Given the description of an element on the screen output the (x, y) to click on. 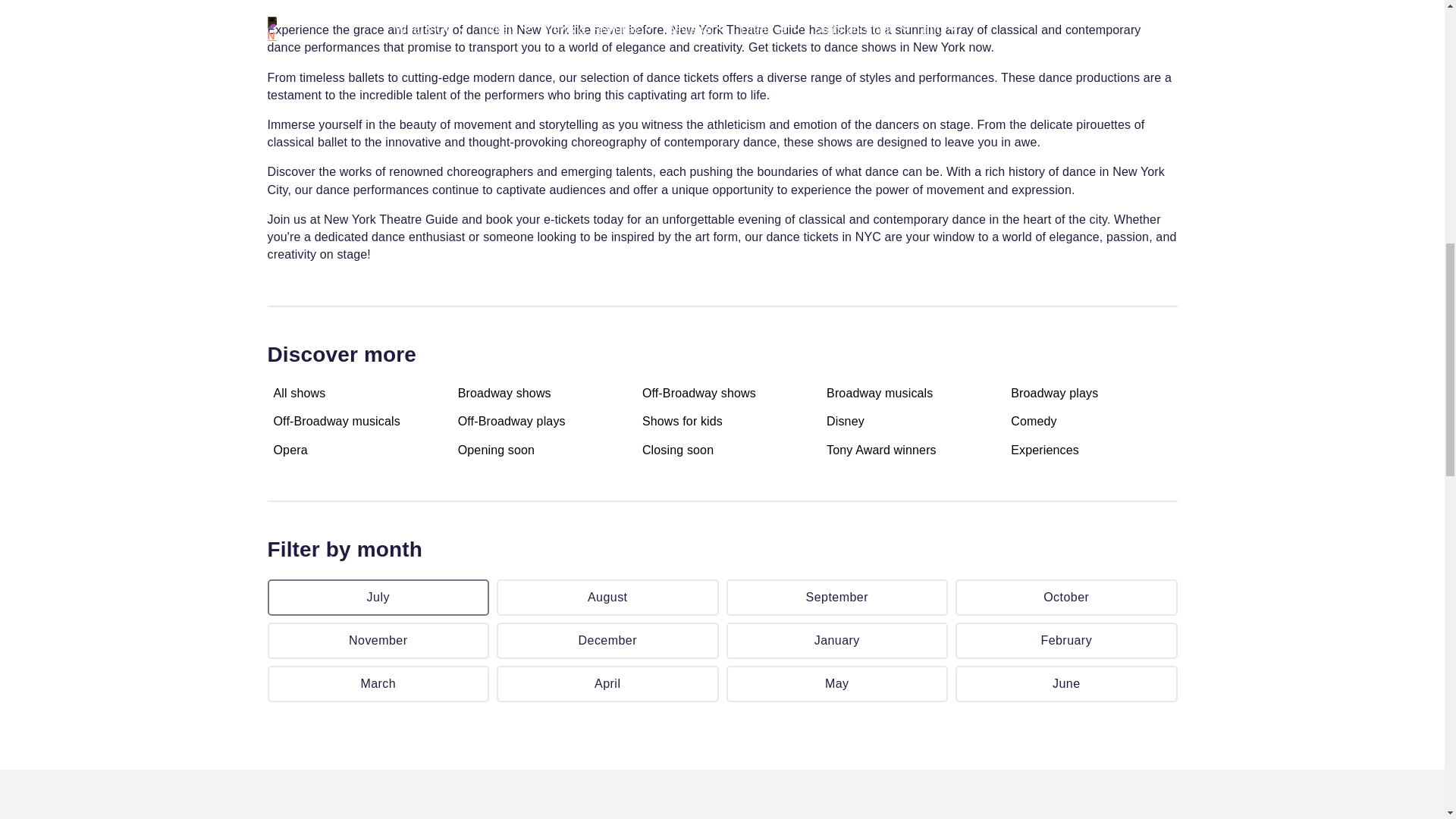
Broadway musicals (880, 393)
Broadway plays (1053, 393)
Off-Broadway musicals (335, 421)
Broadway shows (504, 393)
Comedy (1033, 421)
Off-Broadway plays (512, 421)
Closing soon (677, 450)
Off-Broadway shows (698, 393)
Opening soon (496, 450)
Shows for kids (682, 421)
Tony Award winners (881, 450)
Opera (290, 450)
All shows (298, 393)
Experiences (1044, 450)
Disney (845, 421)
